Given the description of an element on the screen output the (x, y) to click on. 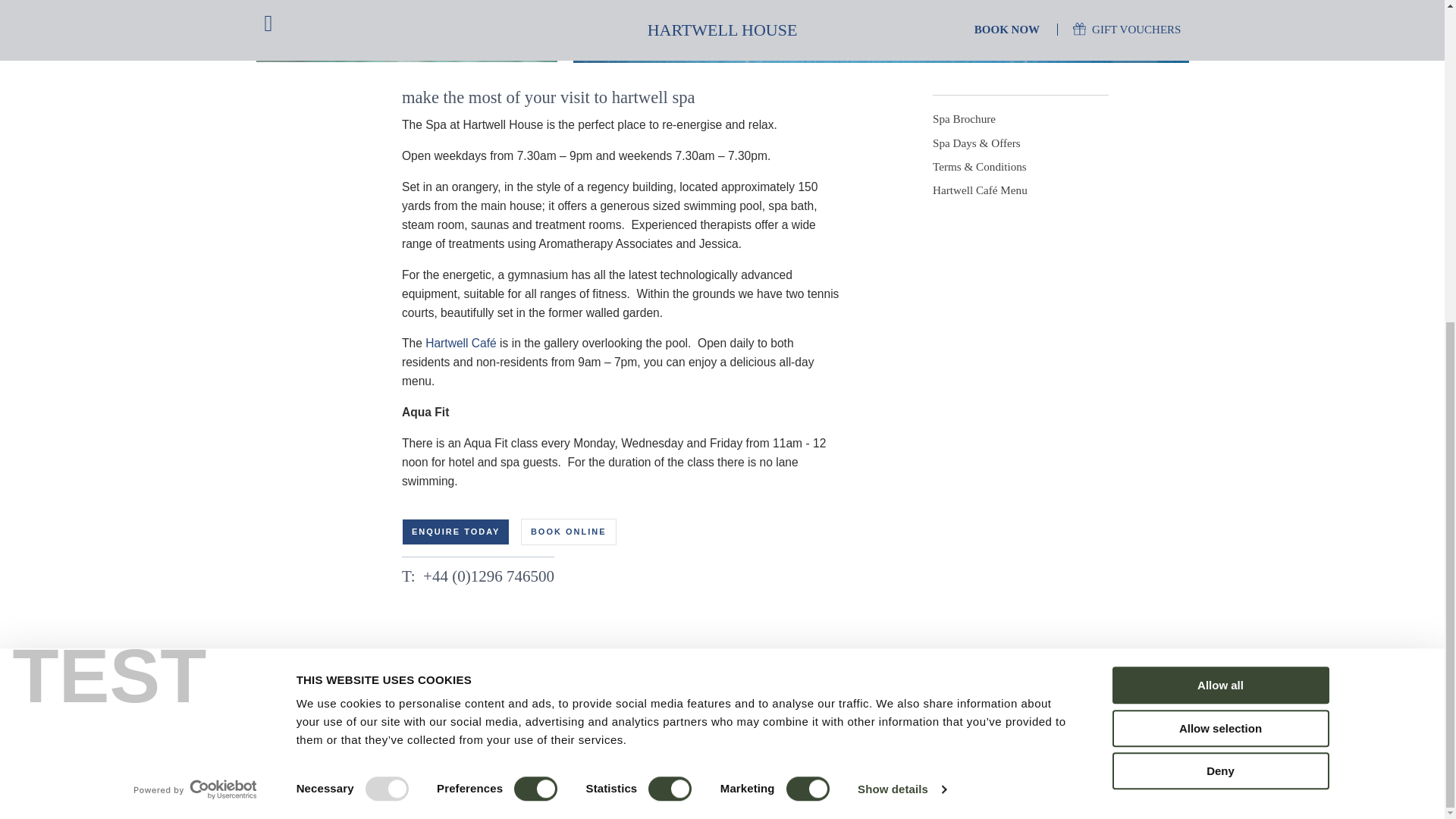
Spa Pool (406, 31)
Allow selection (1219, 203)
Allow all (1219, 160)
Show details (900, 264)
Deny (1219, 245)
